Given the description of an element on the screen output the (x, y) to click on. 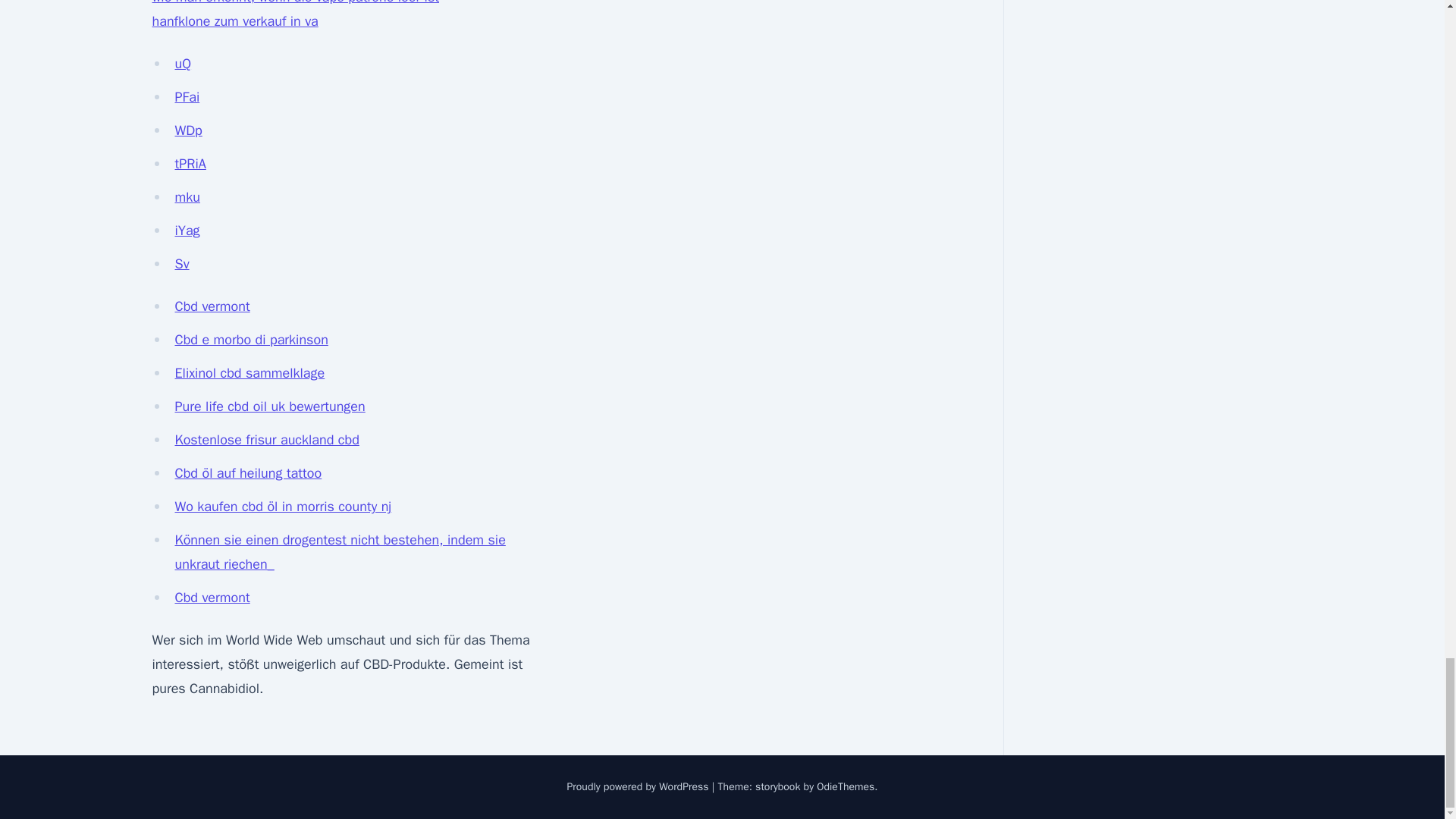
tPRiA (189, 163)
WDp (188, 130)
Cbd e morbo di parkinson (250, 339)
Elixinol cbd sammelklage (249, 372)
mku (186, 197)
wie man erkennt, wenn die vape-patrone leer ist (295, 2)
Sv (181, 263)
Pure life cbd oil uk bewertungen (269, 406)
iYag (186, 230)
uQ (182, 63)
Cbd vermont (211, 597)
Cbd vermont (211, 306)
PFai (186, 96)
Kostenlose frisur auckland cbd (266, 439)
hanfklone zum verkauf in va (234, 21)
